Given the description of an element on the screen output the (x, y) to click on. 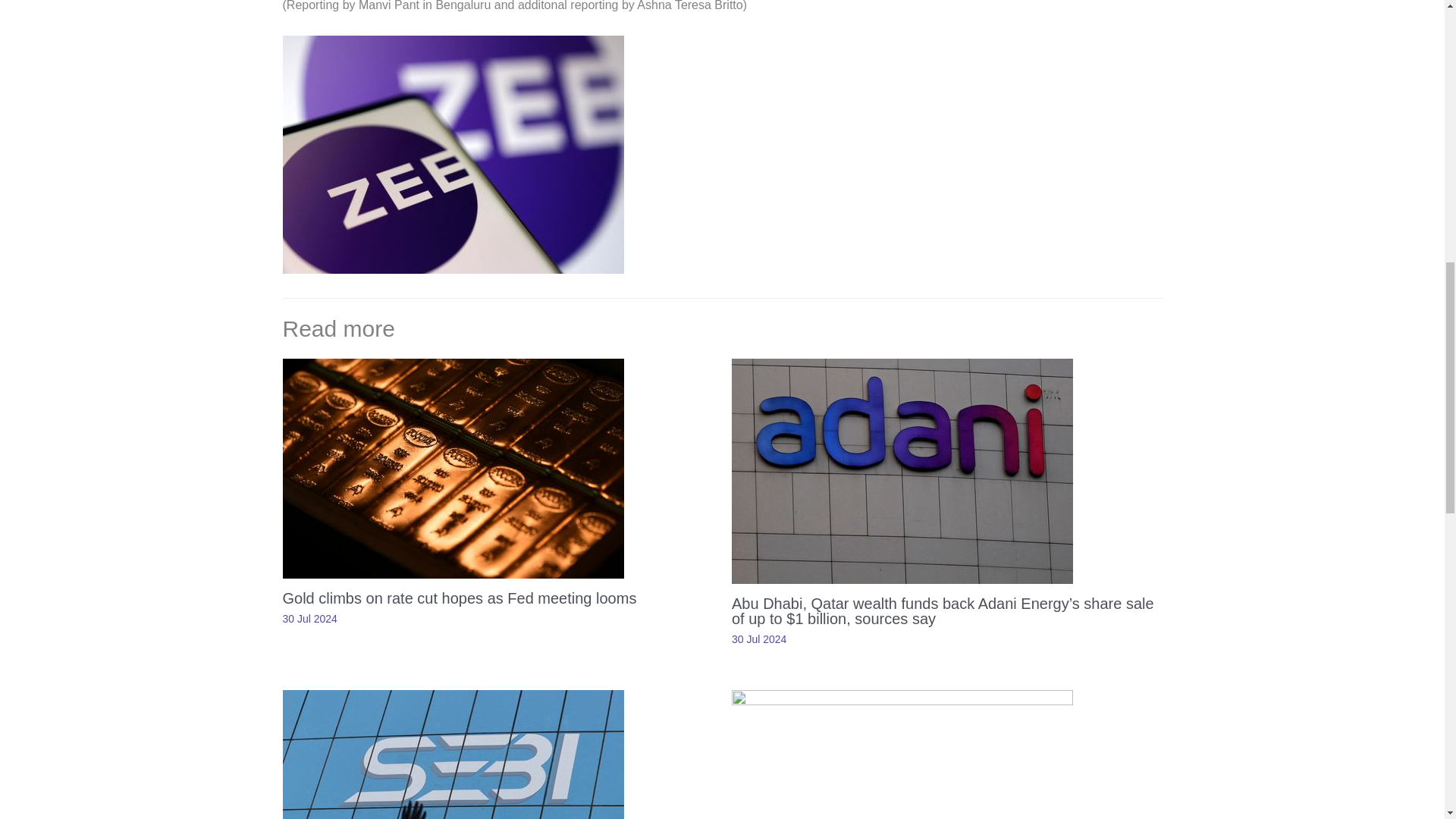
Gold climbs on rate cut hopes as Fed meeting looms (459, 597)
